Given the description of an element on the screen output the (x, y) to click on. 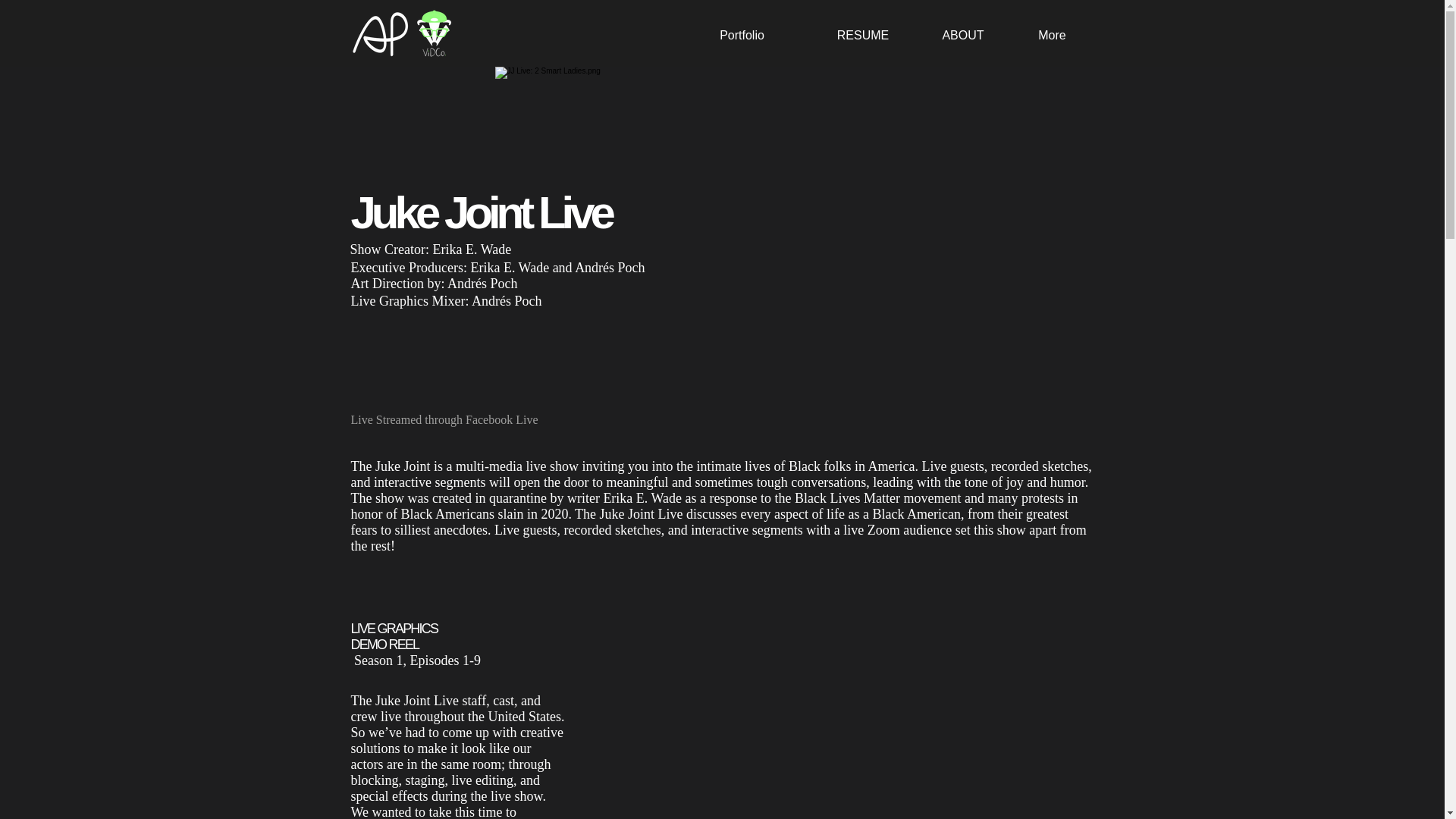
ABOUT (962, 34)
Portfolio (740, 34)
RESUME (862, 34)
